Given the description of an element on the screen output the (x, y) to click on. 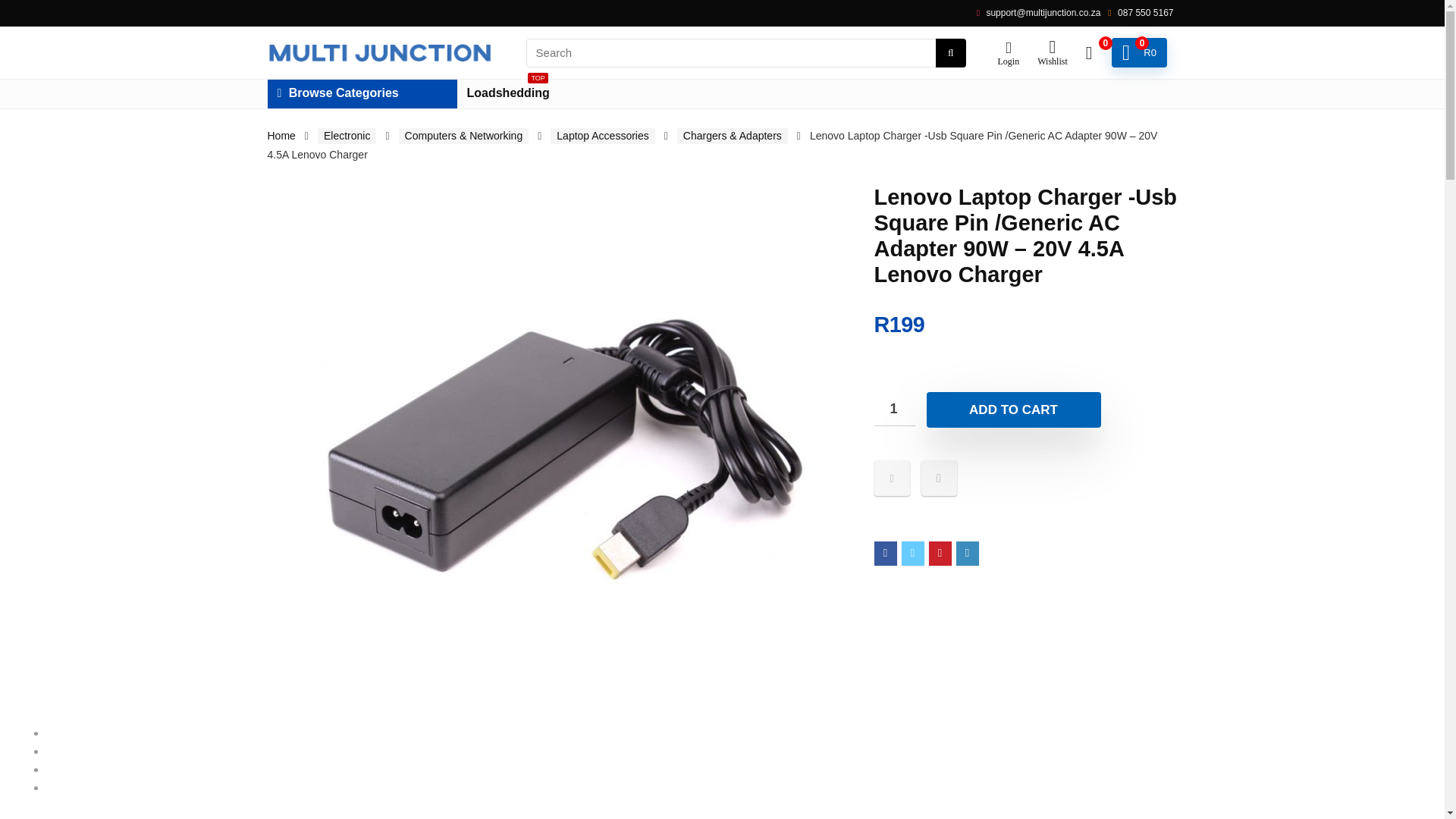
ADD TO CART (1013, 409)
1 (893, 408)
Laptop Accessories (601, 135)
Home (280, 135)
Browse Categories (508, 93)
Electronic (360, 93)
087 550 5167 (346, 135)
